Given the description of an element on the screen output the (x, y) to click on. 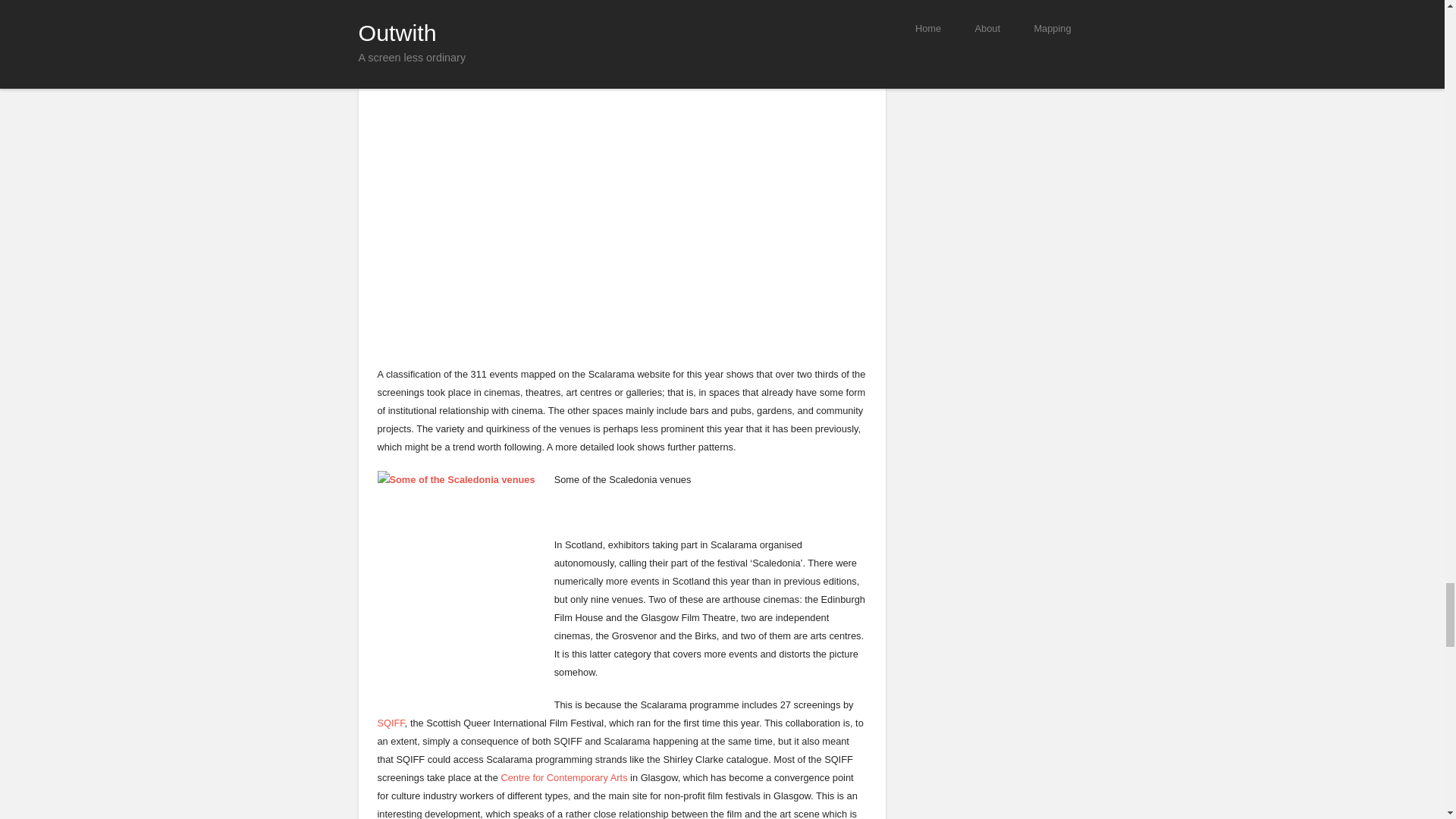
SQIFF (390, 722)
